Given the description of an element on the screen output the (x, y) to click on. 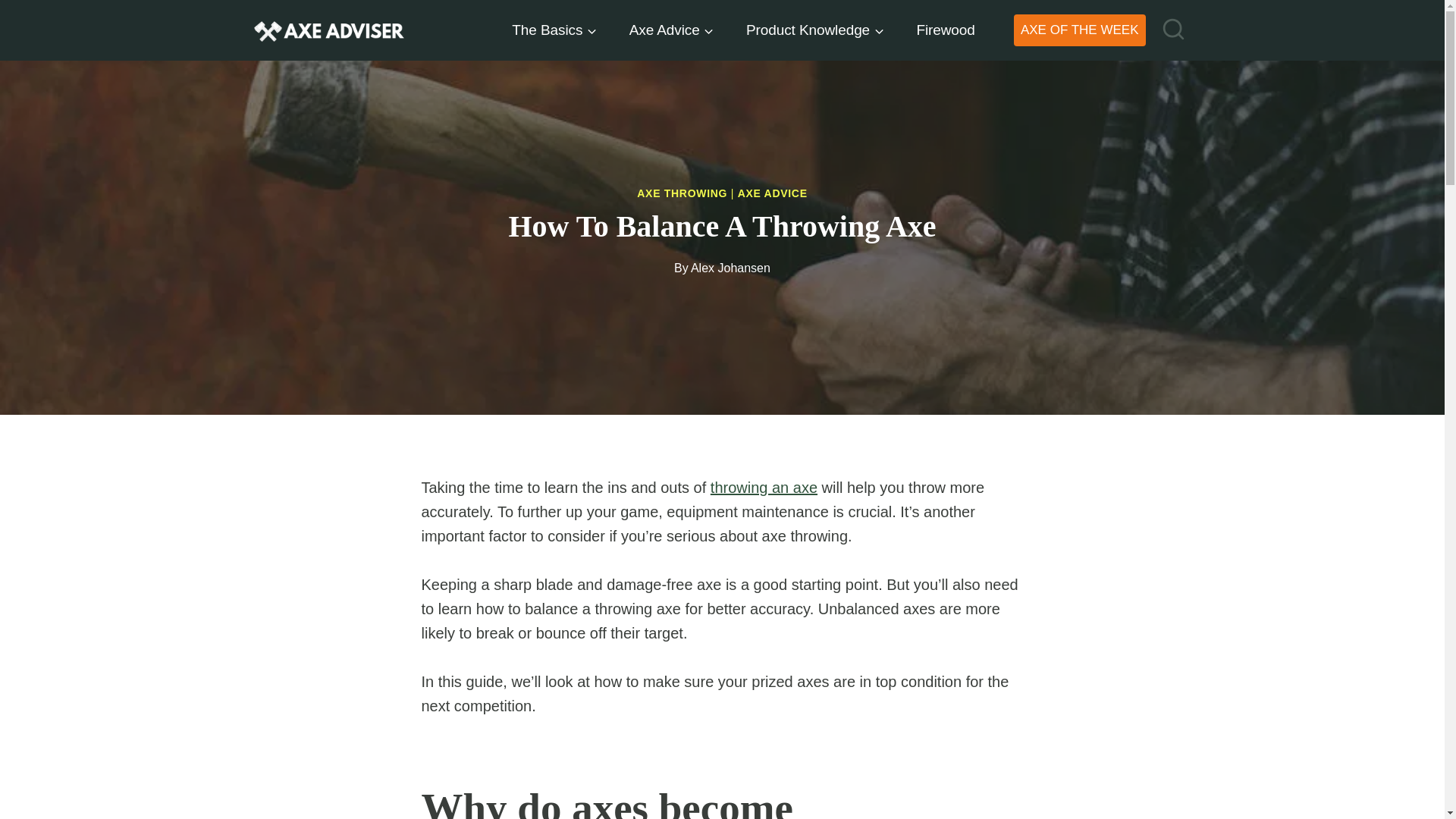
Alex Johansen (730, 267)
AXE OF THE WEEK (1079, 29)
The Basics (554, 29)
AXE THROWING (681, 193)
Axe Advice (670, 29)
AXE ADVICE (773, 193)
Firewood (945, 29)
Product Knowledge (814, 29)
throwing an axe (763, 487)
